Given the description of an element on the screen output the (x, y) to click on. 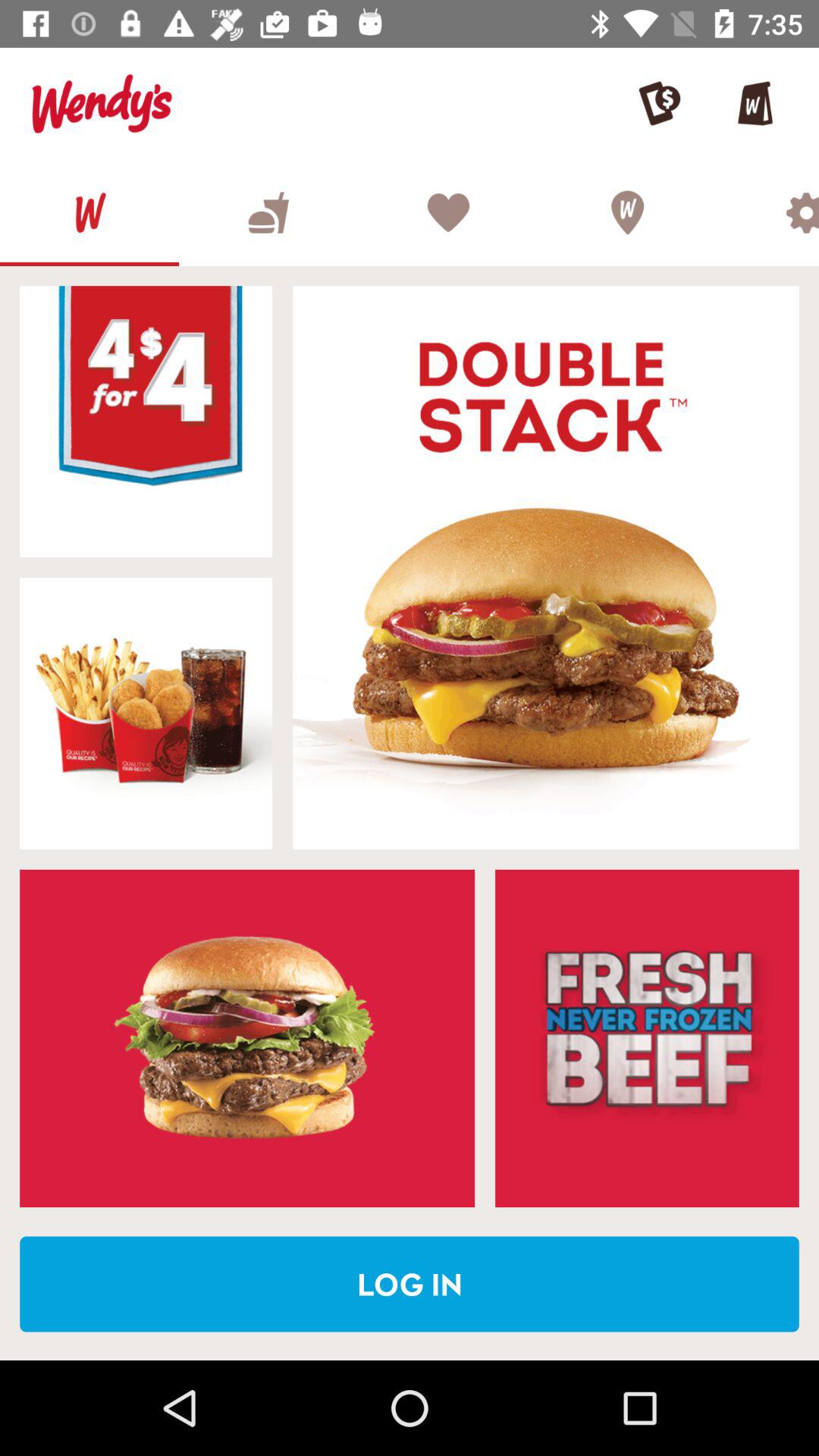
choice double stack meal (545, 567)
